Given the description of an element on the screen output the (x, y) to click on. 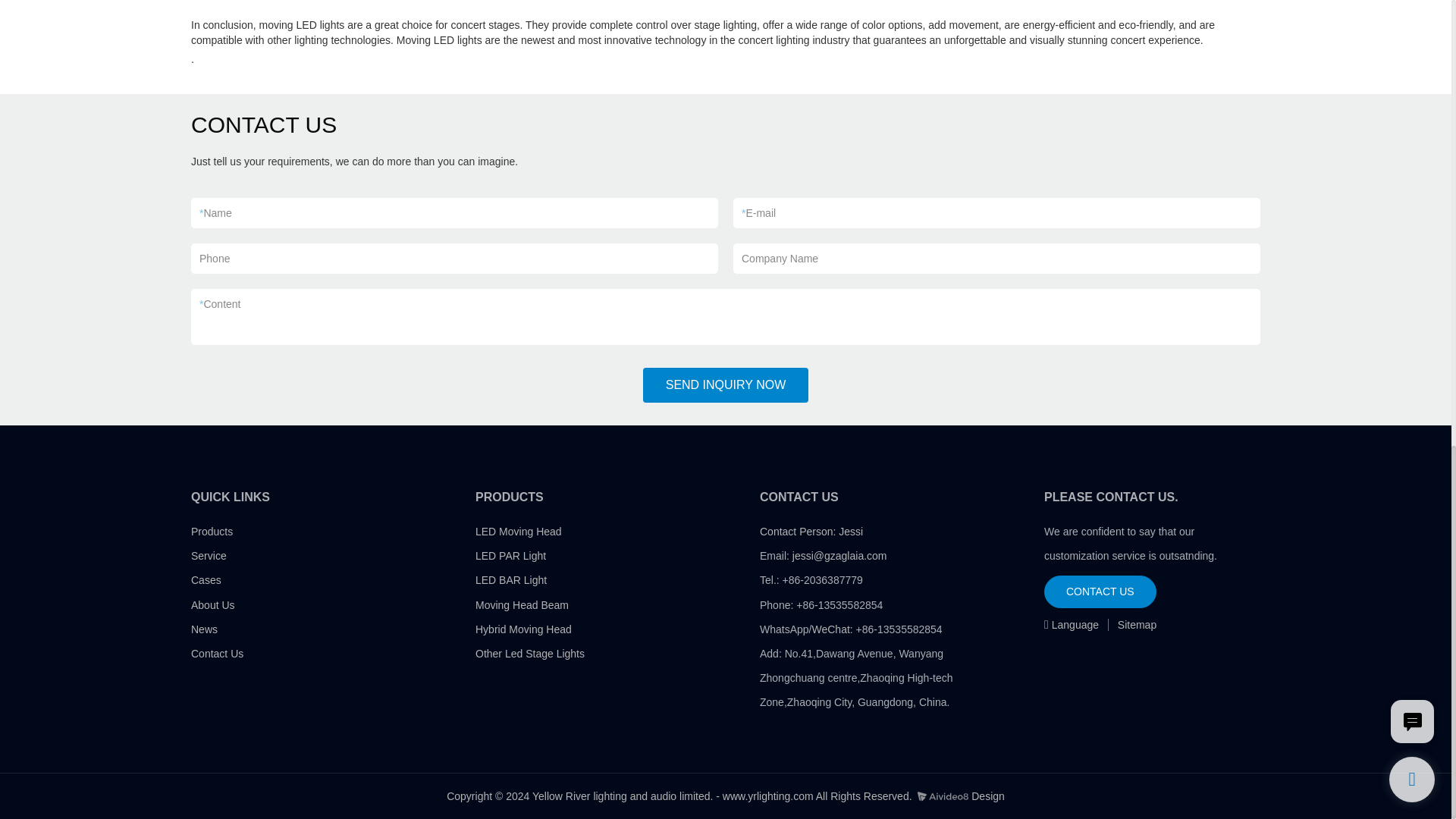
LED PAR Light (511, 555)
News (203, 629)
About Us (212, 604)
LED BAR Light (511, 580)
CONTACT US (1099, 591)
Contact Us (216, 653)
Moving Head Beam (522, 604)
Other Led Stage Lights (530, 653)
LED Moving Head (519, 531)
SEND INQUIRY NOW (726, 384)
Cases (205, 580)
Service (208, 555)
Products (211, 531)
Hybrid Moving Head (524, 629)
